Given the description of an element on the screen output the (x, y) to click on. 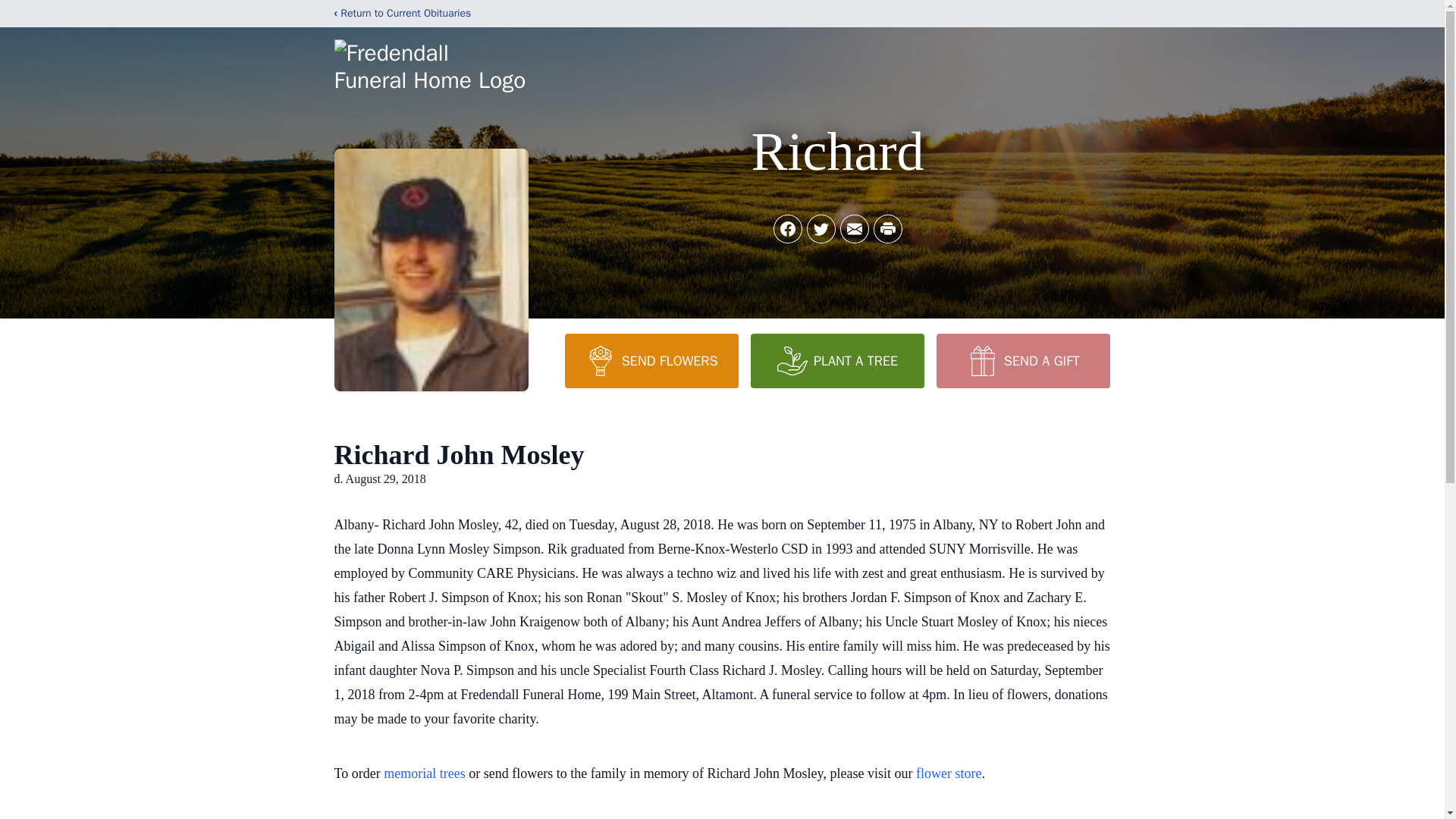
flower store (948, 773)
SEND FLOWERS (651, 360)
SEND A GIFT (1022, 360)
memorial trees (424, 773)
PLANT A TREE (837, 360)
